Given the description of an element on the screen output the (x, y) to click on. 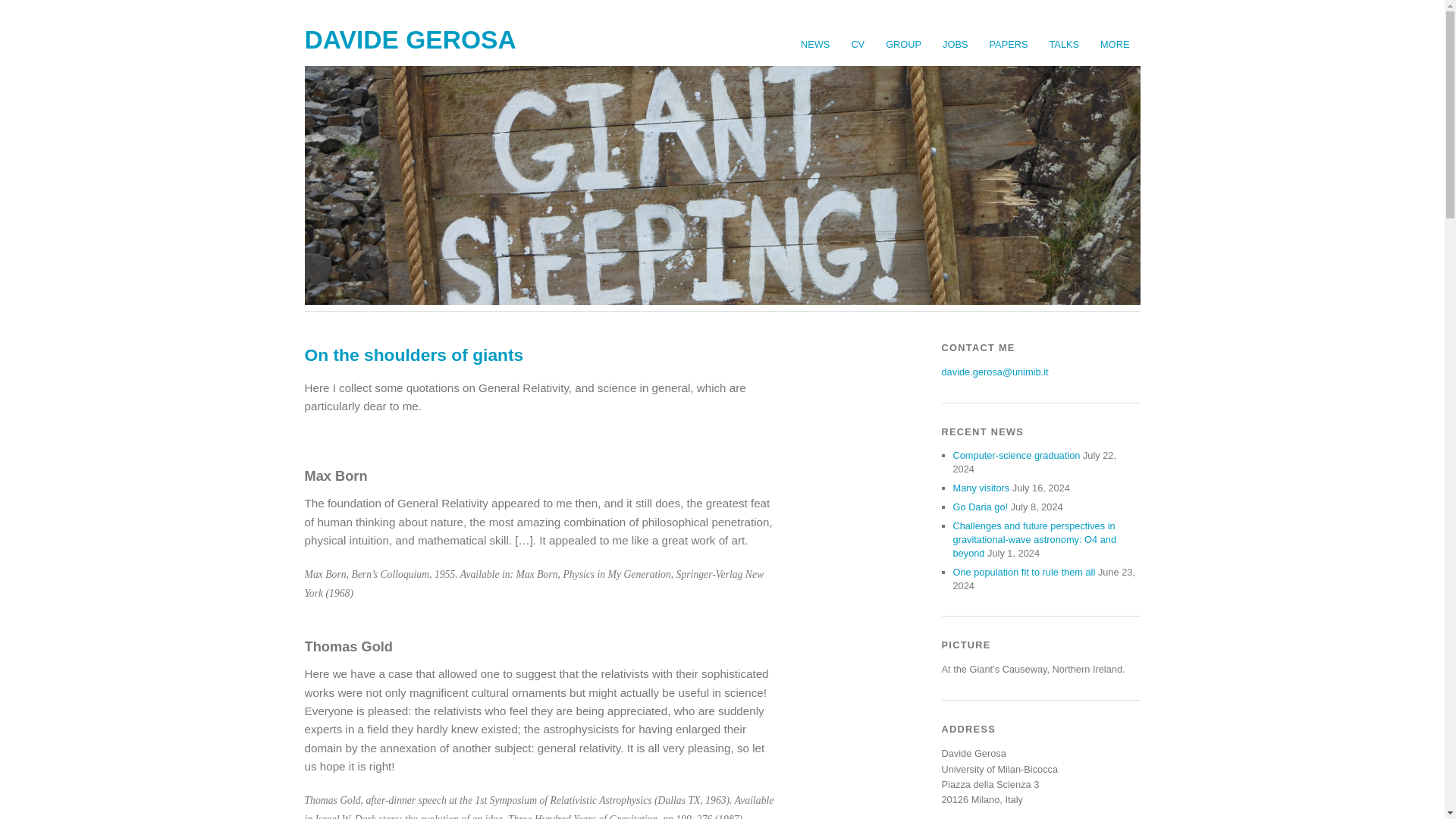
CV (857, 43)
Davide Gerosa (410, 39)
Go Daria go! (979, 506)
One population fit to rule them all (1023, 572)
TALKS (1064, 43)
Many visitors (980, 487)
NEWS (815, 43)
MORE (1114, 43)
PAPERS (1008, 43)
DAVIDE GEROSA (410, 39)
GROUP (903, 43)
Computer-science graduation (1016, 455)
JOBS (954, 43)
